Given the description of an element on the screen output the (x, y) to click on. 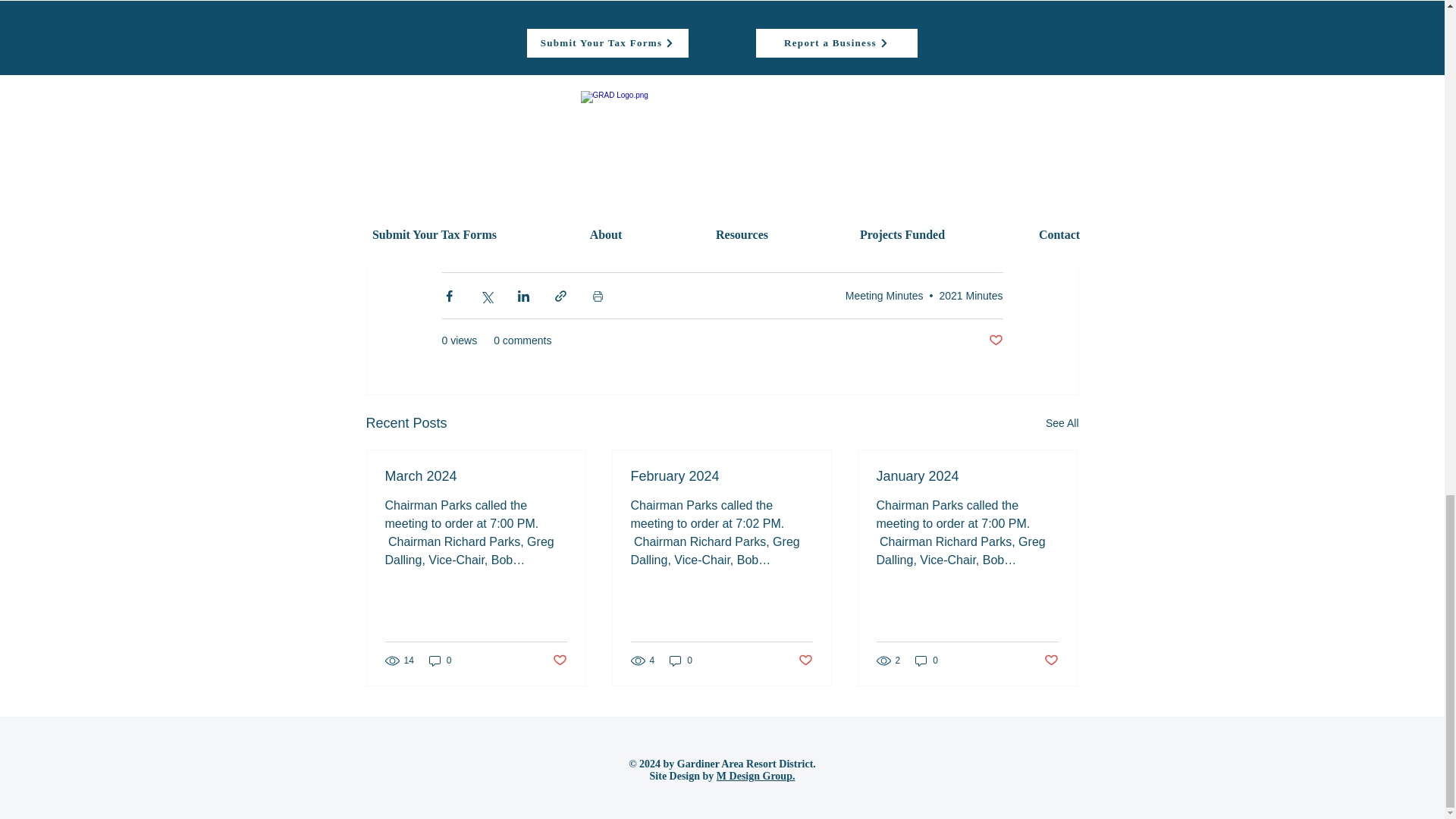
March 2024 (476, 476)
0 (926, 659)
Meeting Minutes (884, 295)
January 2024 (967, 476)
0 (440, 659)
2021 Minutes (971, 295)
Post not marked as liked (558, 660)
Post not marked as liked (1050, 660)
Post not marked as liked (995, 340)
Post not marked as liked (804, 660)
February 2024 (721, 476)
0 (681, 659)
See All (1061, 423)
